Given the description of an element on the screen output the (x, y) to click on. 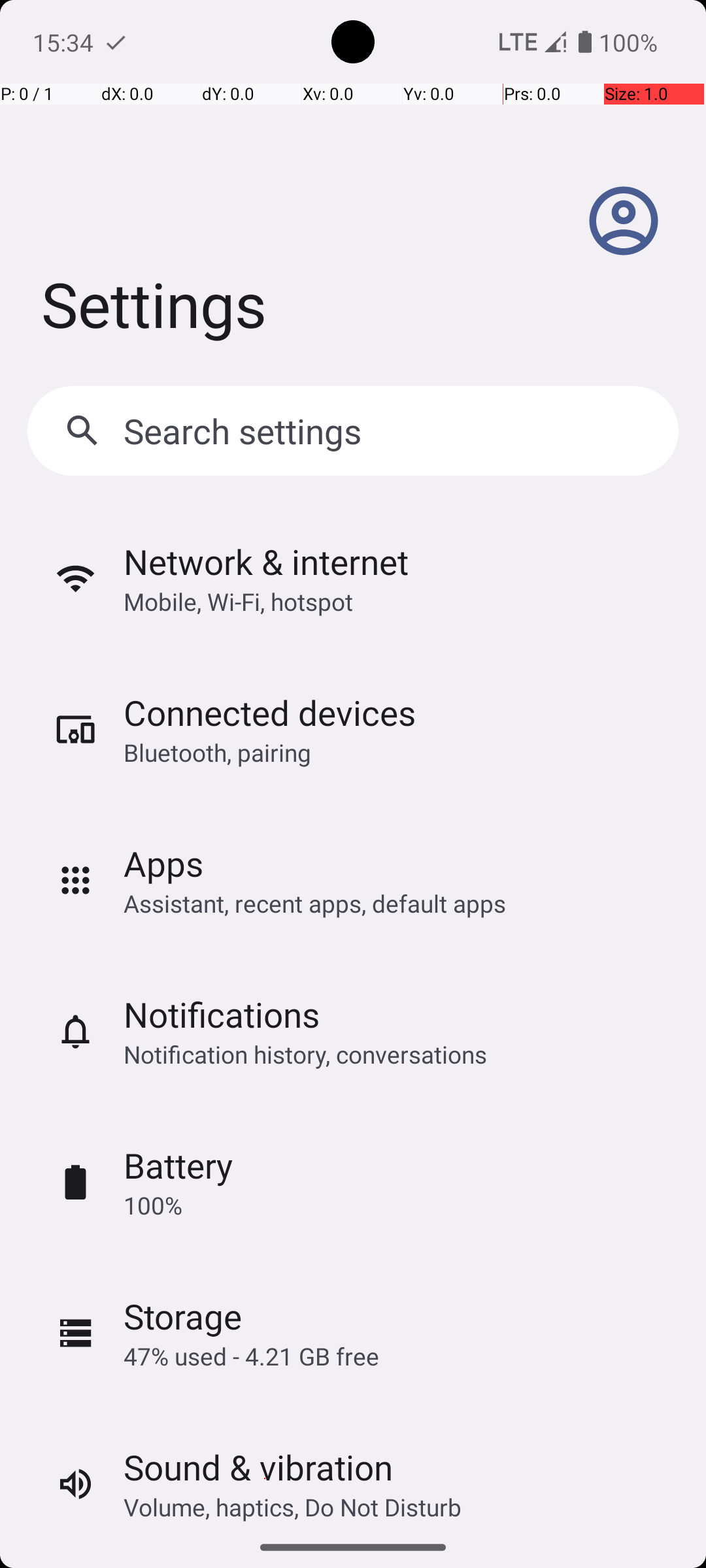
47% used - 4.21 GB free Element type: android.widget.TextView (251, 1355)
